Given the description of an element on the screen output the (x, y) to click on. 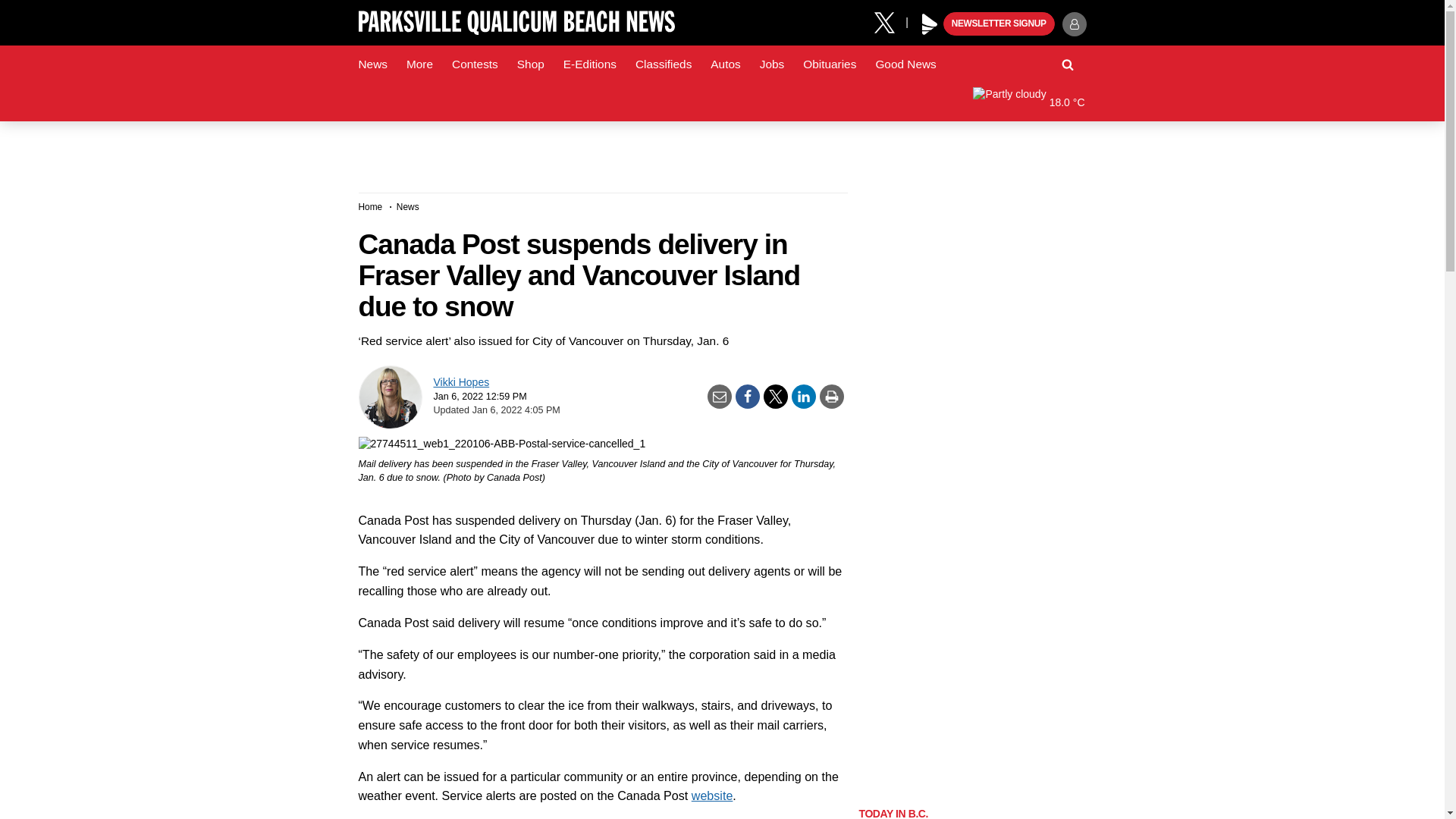
Black Press Media (929, 24)
NEWSLETTER SIGNUP (998, 24)
News (372, 64)
X (889, 21)
Play (929, 24)
